Given the description of an element on the screen output the (x, y) to click on. 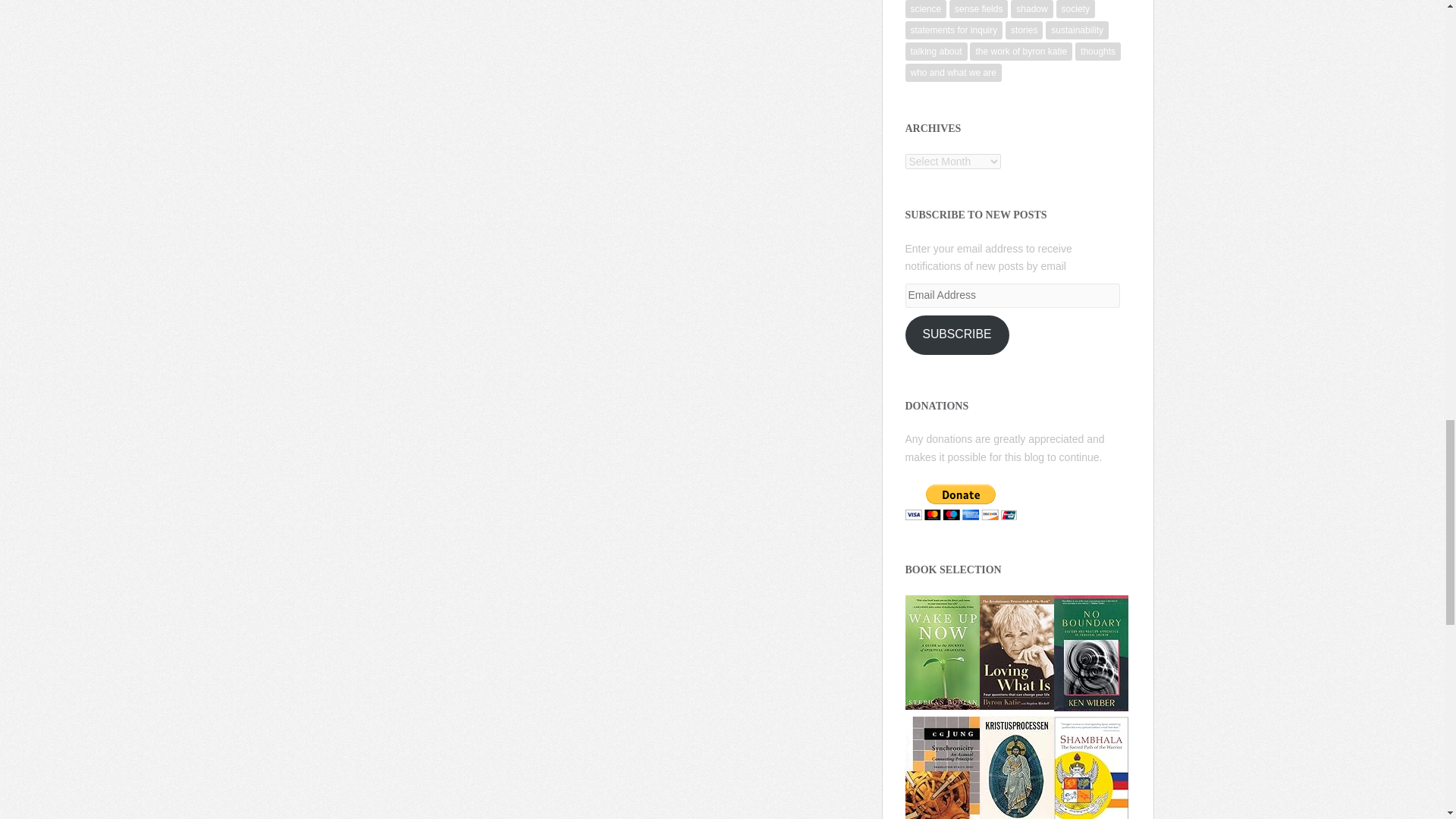
PayPal - The safer, easier way to pay online! (960, 502)
Wake Up Now: A Guide to the Journey of Spiritual Awakening (942, 651)
Kristusprocessen (1016, 772)
Shambhala: The Sacred Path of the Warrior (1091, 775)
Loving What Is: Four Questions That Can Change Your Life (1016, 651)
Synchronicity: An Acausal Connecting Principle (942, 772)
